Given the description of an element on the screen output the (x, y) to click on. 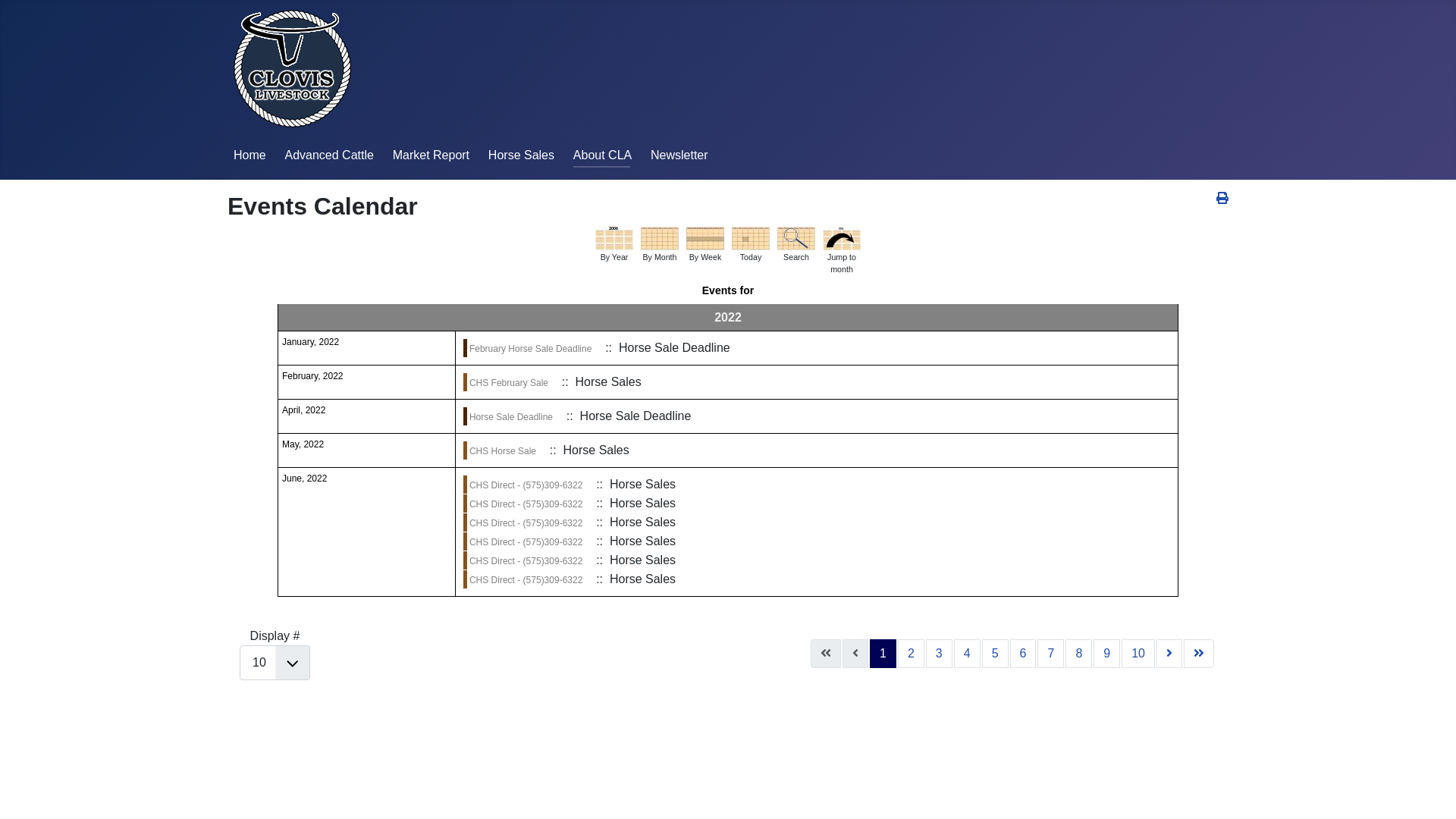
About CLA Element type: text (602, 154)
Horse Sales Element type: text (521, 154)
8 Element type: text (1078, 653)
6 Element type: text (1023, 653)
Today Element type: hover (750, 237)
CHS Direct - (575)309-6322 Element type: text (525, 522)
CHS Direct - (575)309-6322 Element type: text (525, 560)
February Horse Sale Deadline Element type: text (530, 348)
Market Report Element type: text (430, 154)
Advanced Cattle Element type: text (328, 154)
Horse Sale Deadline Element type: text (510, 416)
CHS February Sale Element type: text (508, 382)
By Year Element type: hover (614, 237)
2 Element type: text (910, 653)
1 Element type: text (882, 653)
3 Element type: text (938, 653)
Print Element type: hover (1222, 197)
By Month Element type: hover (659, 237)
CHS Direct - (575)309-6322 Element type: text (525, 485)
CHS Horse Sale Element type: text (502, 450)
CHS Direct - (575)309-6322 Element type: text (525, 579)
CHS Direct - (575)309-6322 Element type: text (525, 541)
Search Element type: hover (796, 237)
4 Element type: text (966, 653)
Jump to month Element type: hover (841, 237)
7 Element type: text (1050, 653)
9 Element type: text (1106, 653)
10 Element type: text (1137, 653)
CHS Direct - (575)309-6322 Element type: text (525, 503)
5 Element type: text (995, 653)
By Week Element type: hover (705, 237)
Home Element type: text (249, 154)
Newsletter Element type: text (679, 154)
